Given the description of an element on the screen output the (x, y) to click on. 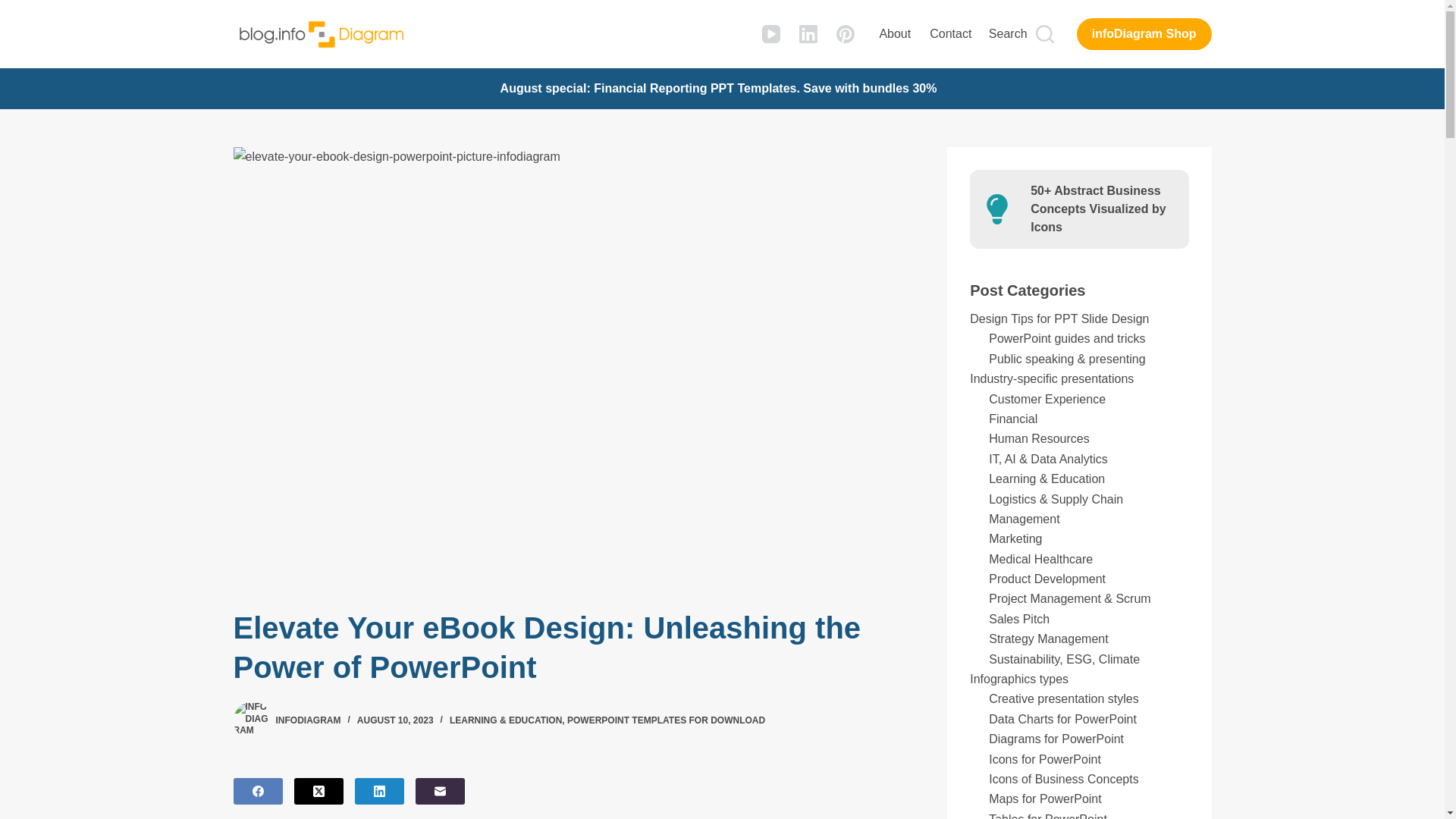
Search (1021, 34)
Skip to content (15, 7)
POWERPOINT TEMPLATES FOR DOWNLOAD (666, 719)
infoDiagram Shop (1144, 33)
INFODIAGRAM (308, 719)
Posts by infoDiagram (308, 719)
Contact (950, 33)
